Given the description of an element on the screen output the (x, y) to click on. 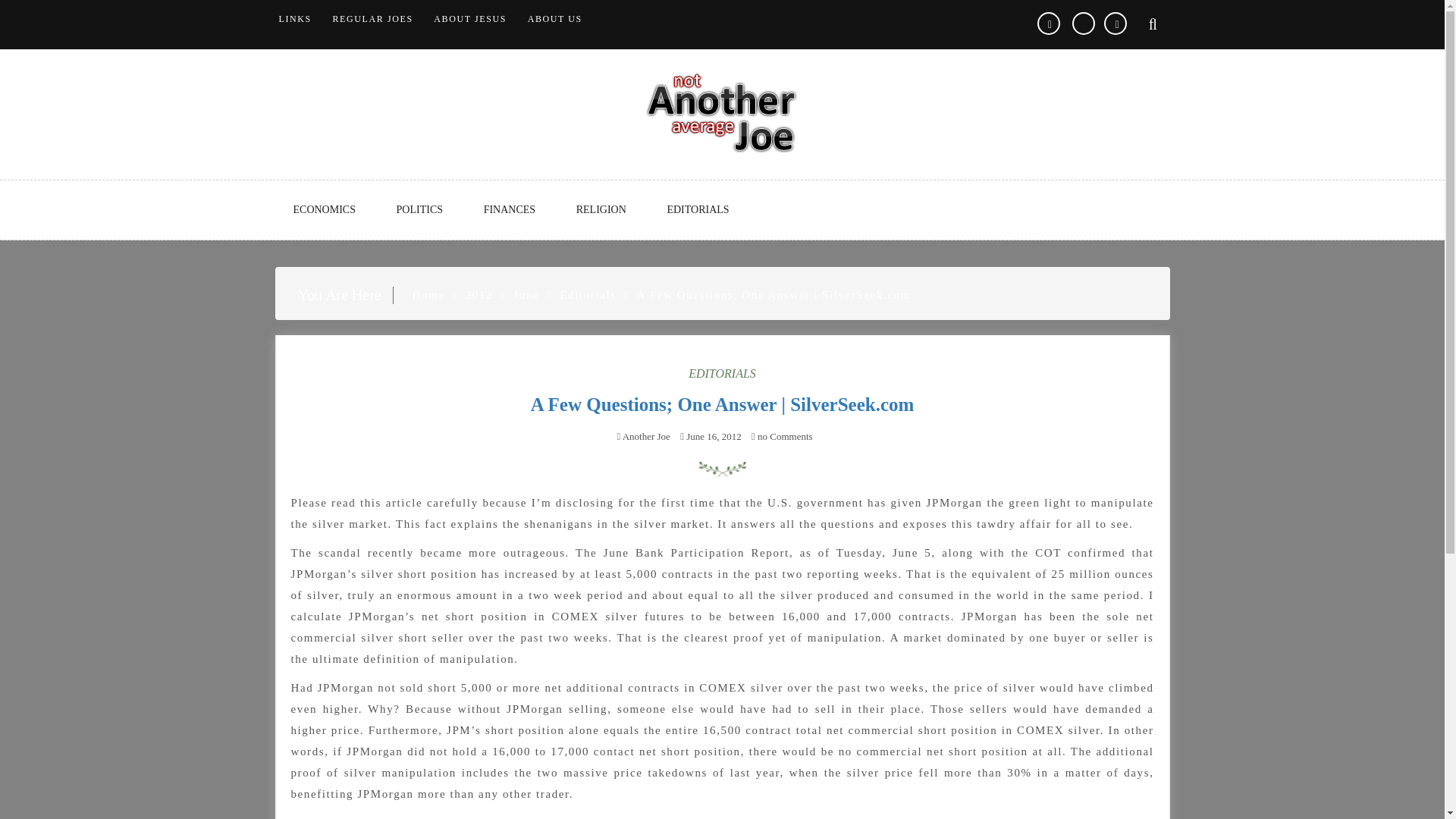
June (525, 295)
EDITORIALS (721, 373)
FINANCES (509, 209)
RELIGION (601, 209)
no Comments (781, 436)
June 16, 2012 (713, 436)
Home (428, 295)
POLITICS (419, 209)
Posts by Another Joe (646, 436)
Editorials (587, 295)
REGULAR JOES (371, 18)
ECONOMICS (323, 209)
Another Joe (646, 436)
2012 (479, 295)
EDITORIALS (696, 209)
